Given the description of an element on the screen output the (x, y) to click on. 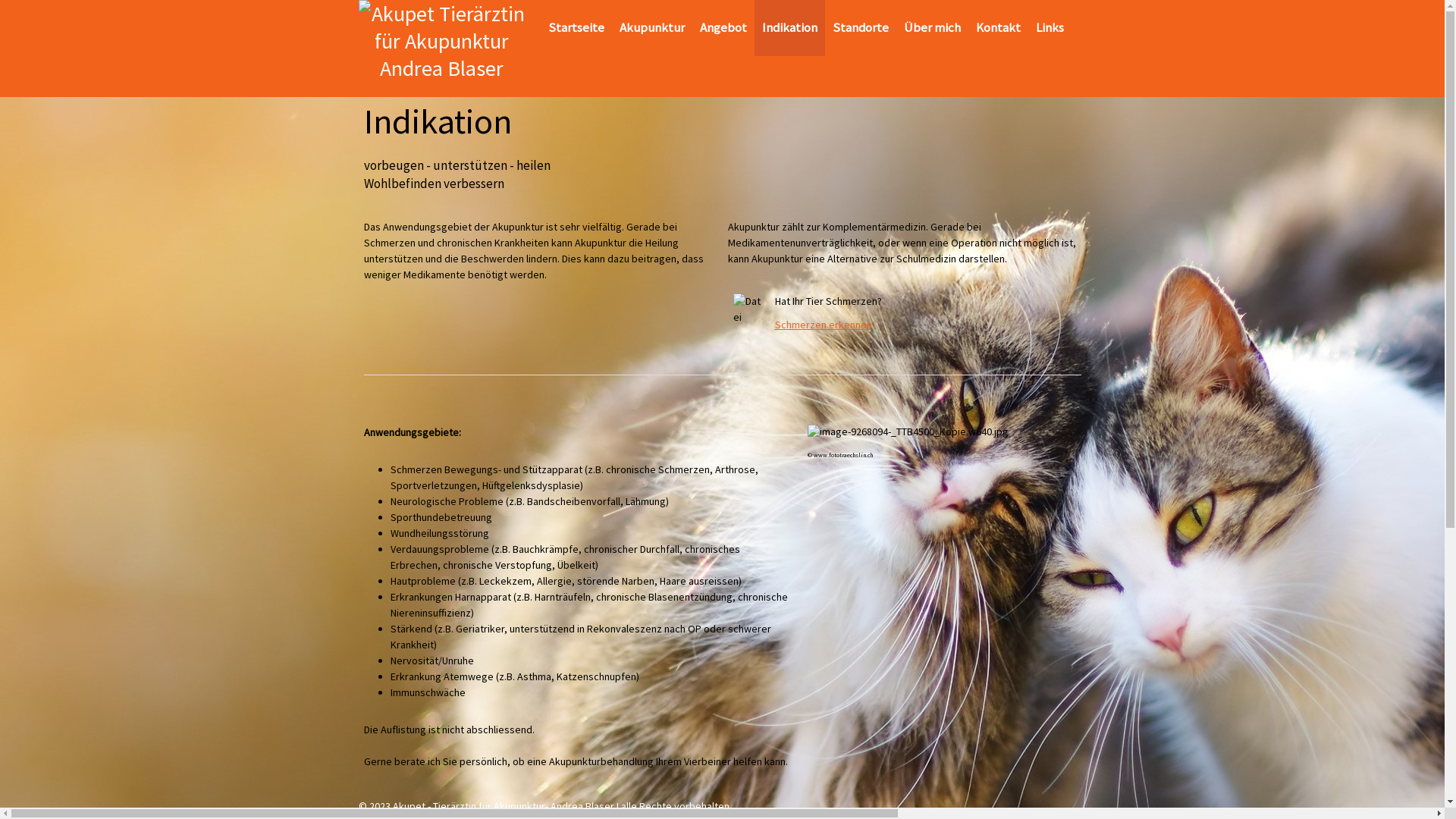
Angebot Element type: text (723, 28)
Schmerzen erkennen Element type: text (823, 324)
Indikation Element type: text (789, 28)
Akupunktur Element type: text (651, 28)
Startseite Element type: text (575, 28)
Links Element type: text (1049, 28)
Standorte Element type: text (860, 28)
Kontakt Element type: text (998, 28)
